Given the description of an element on the screen output the (x, y) to click on. 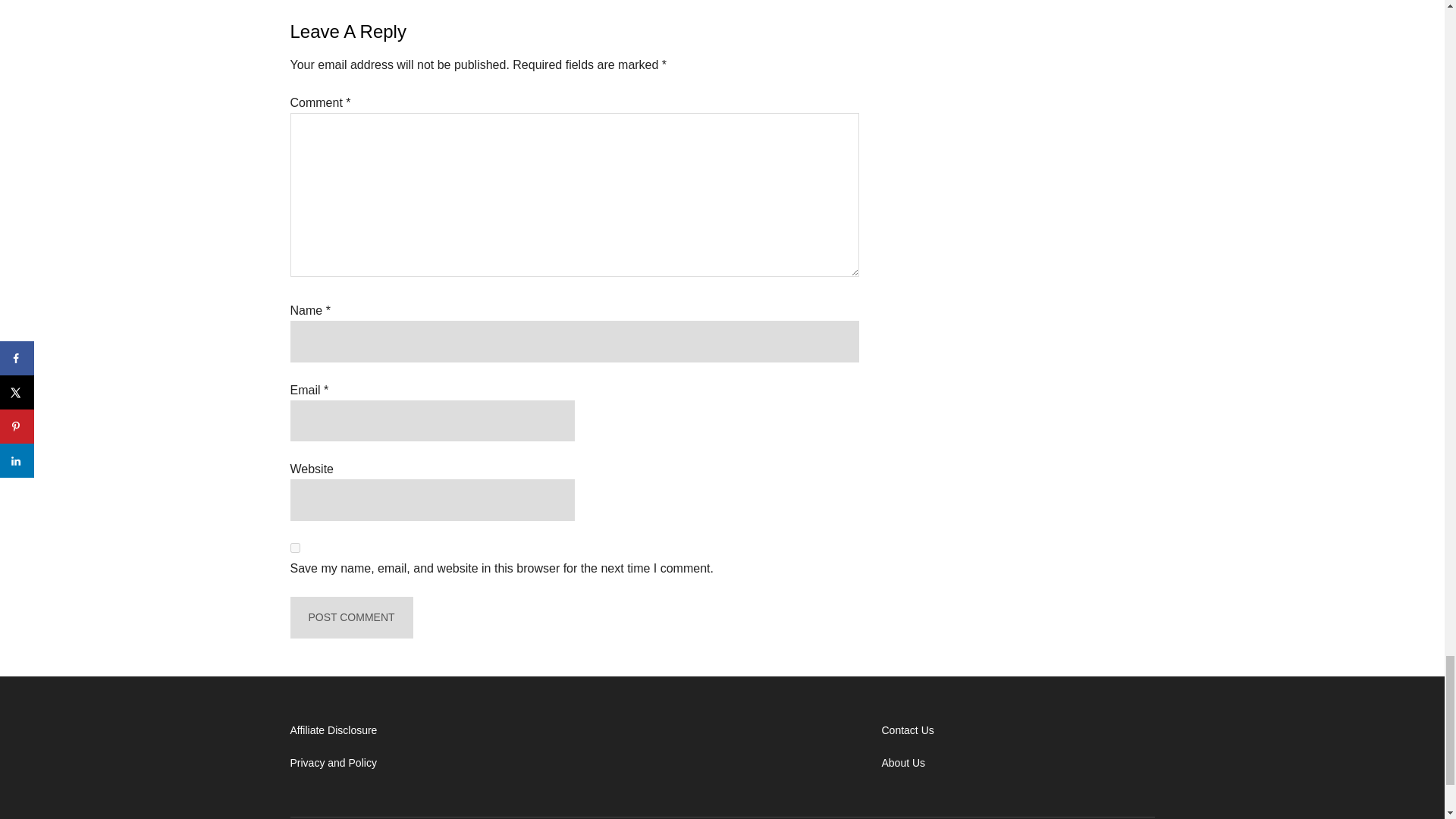
yes (294, 547)
Post Comment (350, 617)
Post Comment (350, 617)
